Given the description of an element on the screen output the (x, y) to click on. 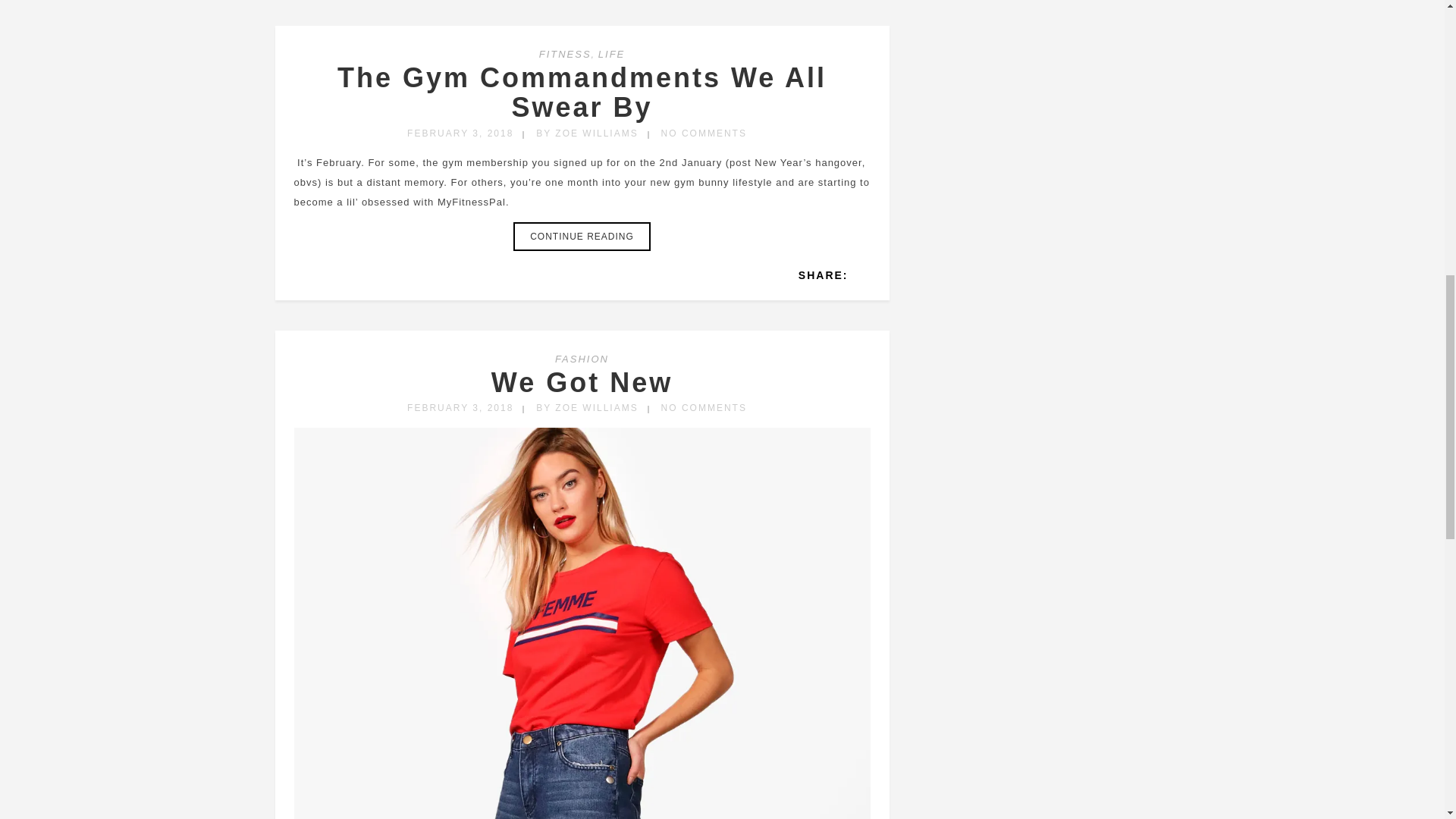
Permanent Link to The Gym Commandments We All Swear By (582, 92)
Permanent Link to We Got New (582, 382)
